Given the description of an element on the screen output the (x, y) to click on. 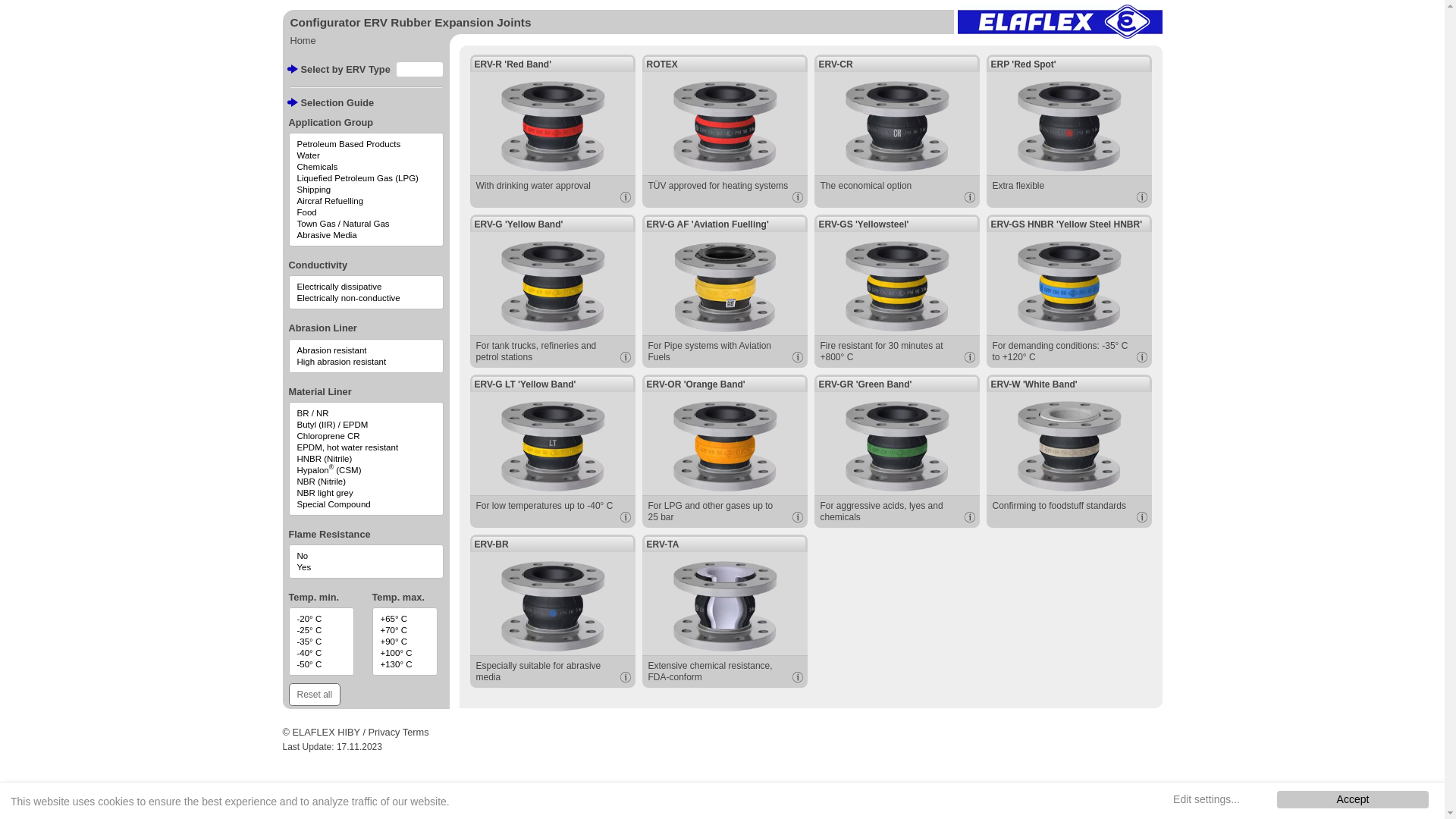
HNBR (Nitrile) Element type: text (365, 458)
ERV-TA
Extensive chemical resistance, FDA-conform Element type: text (723, 610)
Petroleum Based Products Element type: text (365, 143)
NBR light grey Element type: text (365, 492)
Town Gas / Natural Gas Element type: text (365, 223)
NBR (Nitrile) Element type: text (365, 481)
Privacy Terms Element type: text (398, 731)
ERV-GR 'Green Band'
For aggressive acids, lyes and chemicals Element type: text (896, 450)
Butyl (IIR) / EPDM Element type: text (365, 424)
No Element type: text (365, 555)
Accept Element type: text (1352, 799)
ERV-OR 'Orange Band'
For LPG and other gases up to 25 bar Element type: text (723, 450)
High abrasion resistant Element type: text (365, 361)
EPDM, hot water resistant Element type: text (365, 446)
ERP 'Red Spot'
Extra flexible Element type: text (1068, 130)
Water Element type: text (365, 155)
Liquefied Petroleum Gas (LPG) Element type: text (365, 177)
Electrically non-conductive Element type: text (365, 297)
Yes Element type: text (365, 566)
Aircraf Refuelling Element type: text (365, 200)
Shipping Element type: text (365, 189)
ERV-BR
Especially suitable for abrasive media Element type: text (552, 610)
Electrically dissipative Element type: text (365, 286)
Chloroprene CR Element type: text (365, 435)
Edit settings... Element type: text (1206, 799)
Abrasive Media Element type: text (365, 234)
Reset all Element type: text (314, 694)
Food Element type: text (365, 211)
Abrasion resistant Element type: text (365, 349)
ERV-CR
The economical option Element type: text (896, 130)
BR / NR Element type: text (365, 412)
Special Compound Element type: text (365, 503)
Home Element type: text (302, 40)
Chemicals Element type: text (365, 166)
ERV-R 'Red Band'
With drinking water approval Element type: text (552, 130)
ERV-W 'White Band'
Confirming to foodstuff standards Element type: text (1068, 450)
